Given the description of an element on the screen output the (x, y) to click on. 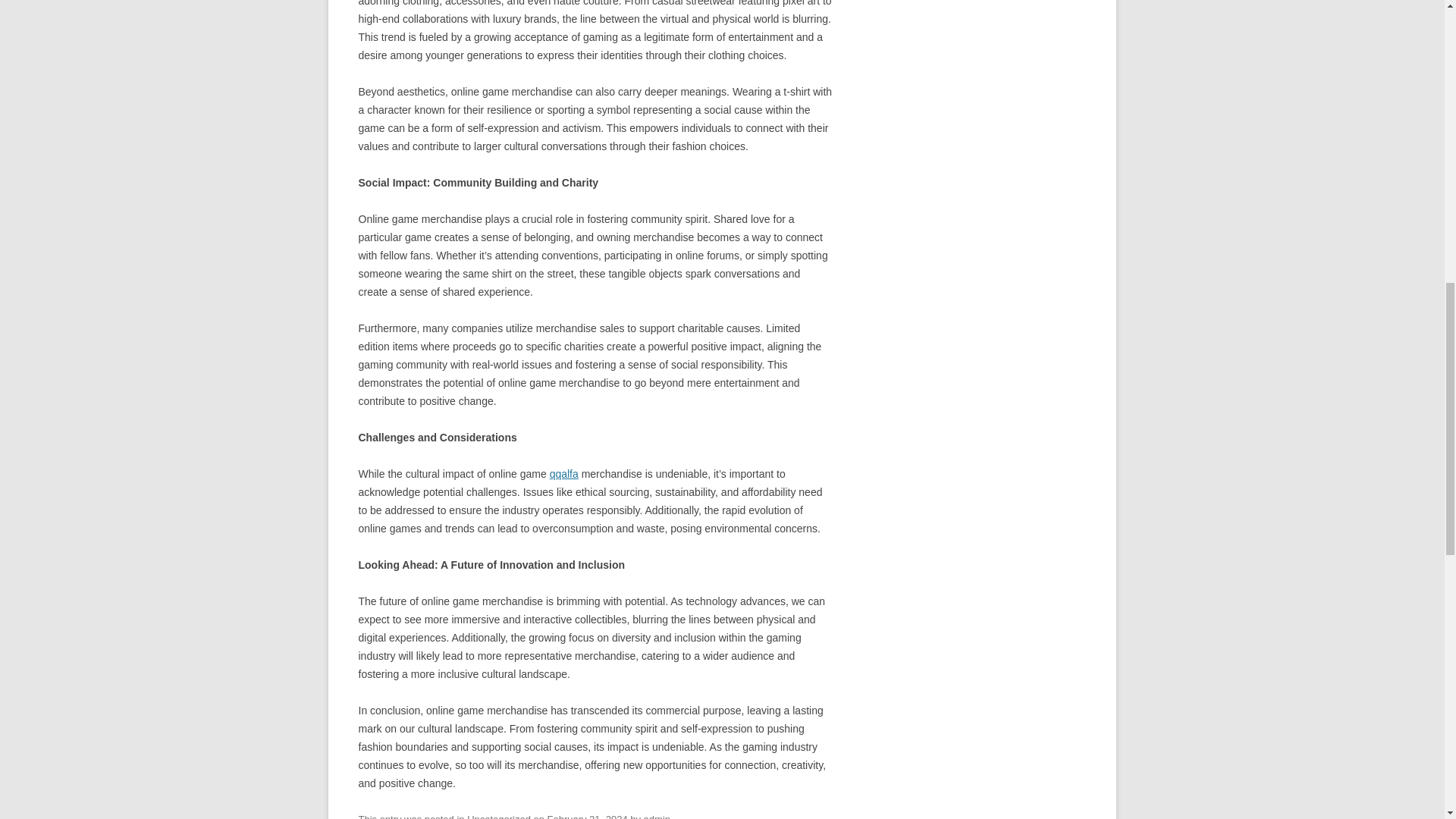
View all posts by admin (656, 816)
February 21, 2024 (587, 816)
qqalfa (564, 473)
Uncategorized (499, 816)
9:55 am (587, 816)
admin (656, 816)
